Given the description of an element on the screen output the (x, y) to click on. 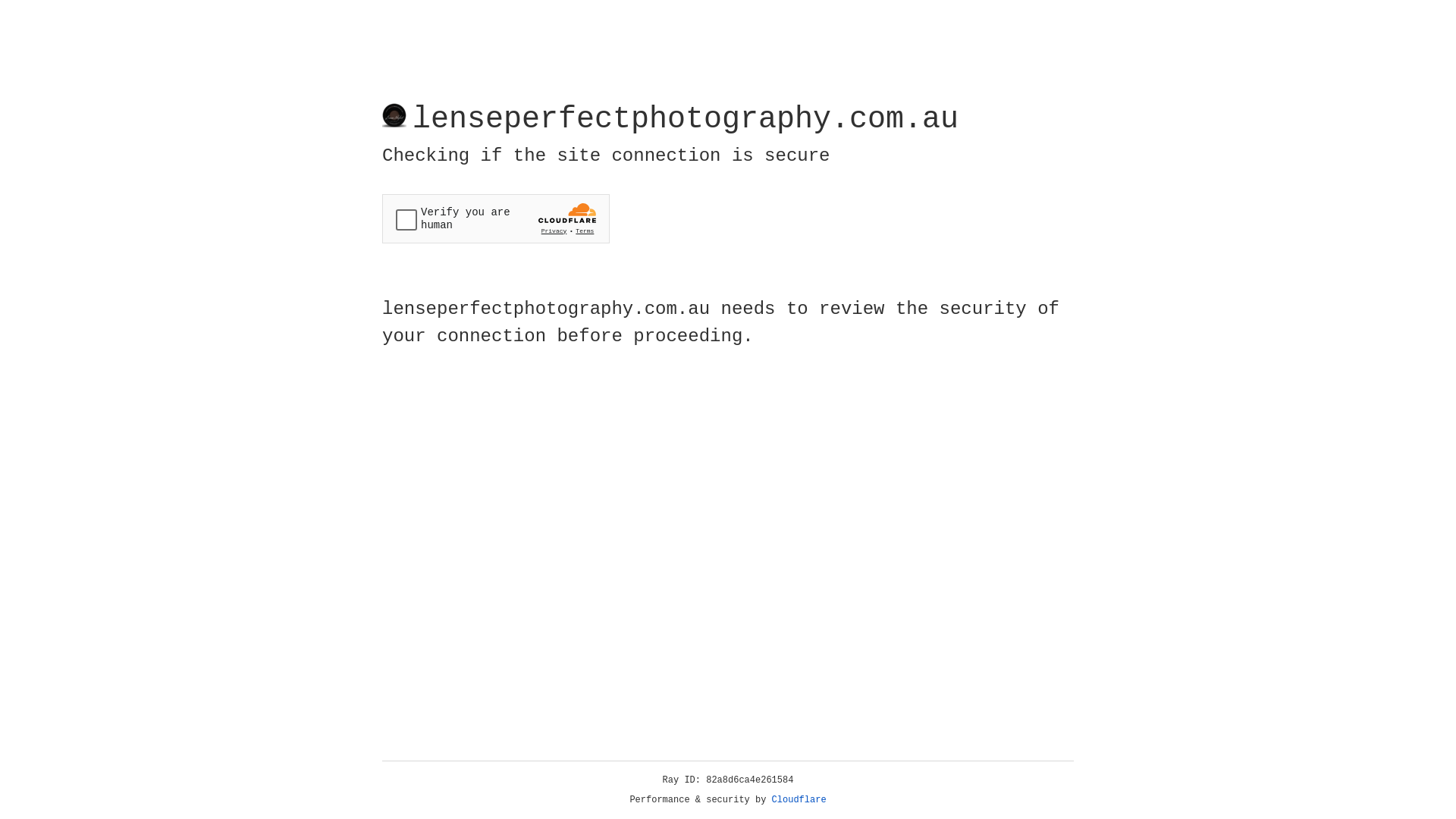
Cloudflare Element type: text (798, 799)
Widget containing a Cloudflare security challenge Element type: hover (495, 218)
